Given the description of an element on the screen output the (x, y) to click on. 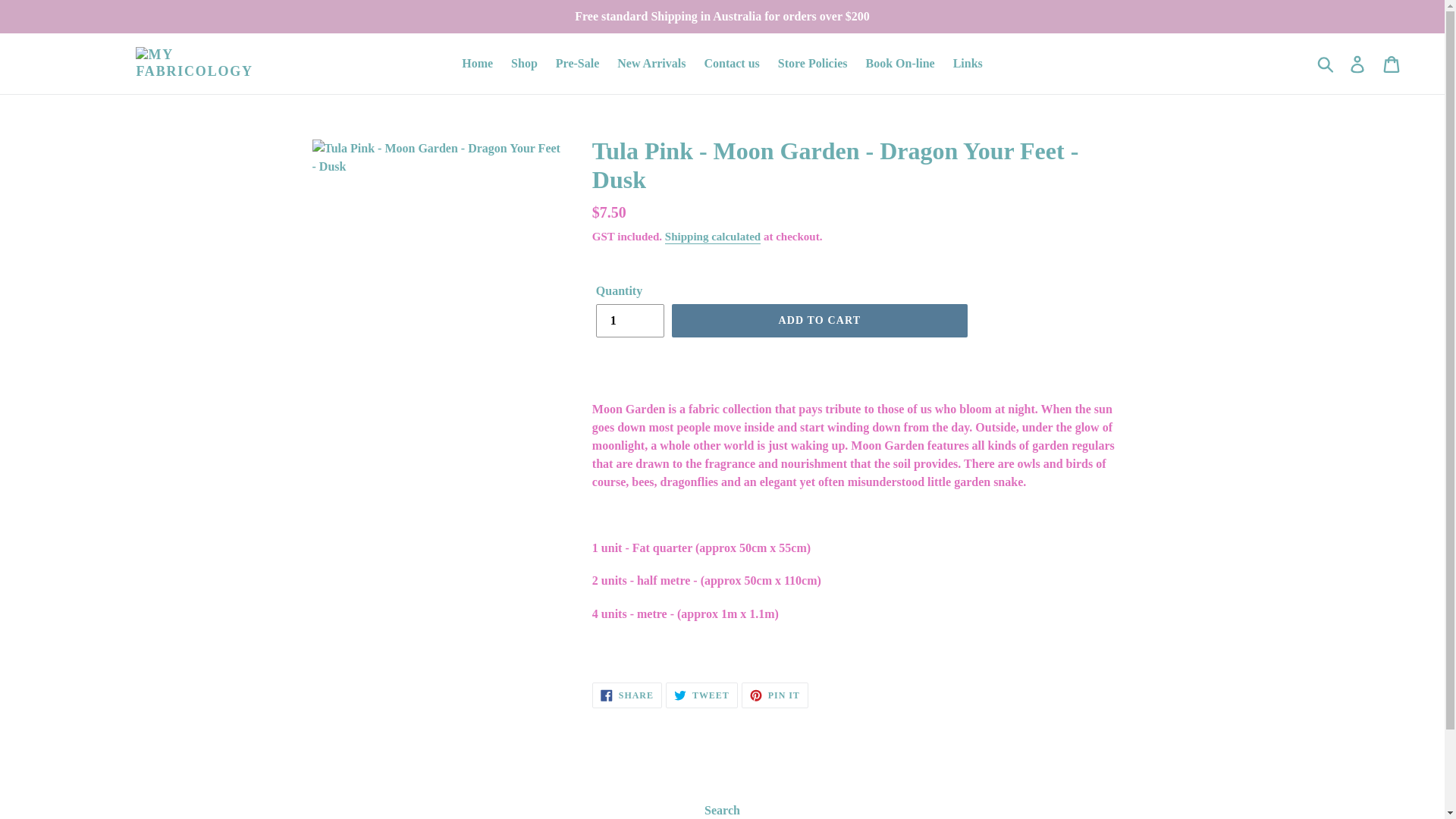
Cart (1392, 63)
Log in (1357, 63)
Shop (523, 63)
Submit (1326, 63)
Pre-Sale (577, 63)
Links (701, 695)
Shipping calculated (967, 63)
1 (712, 237)
Contact us (629, 320)
ADD TO CART (731, 63)
Book On-line (819, 320)
New Arrivals (900, 63)
Store Policies (651, 63)
